Given the description of an element on the screen output the (x, y) to click on. 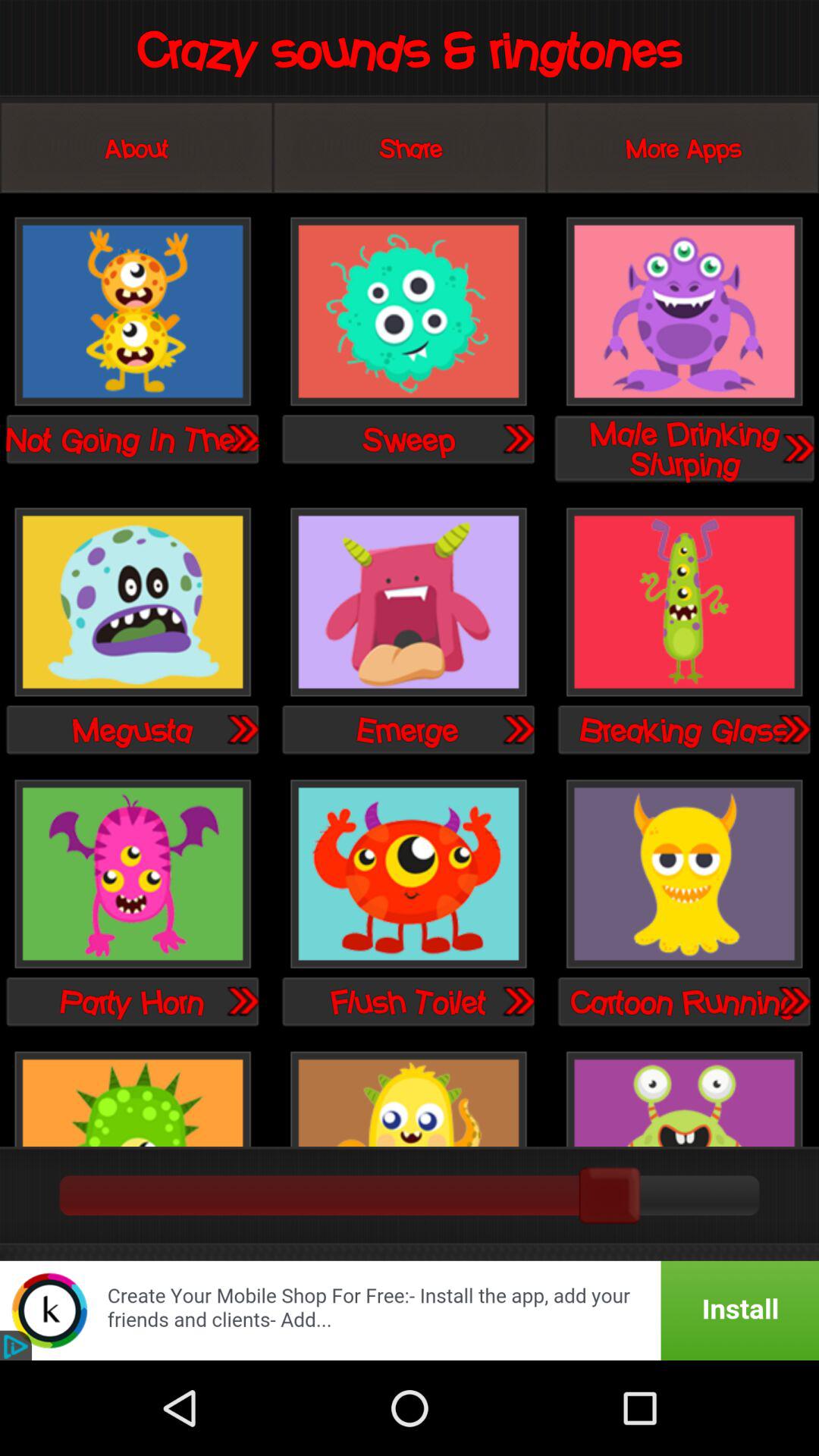
scroll right (797, 447)
